Given the description of an element on the screen output the (x, y) to click on. 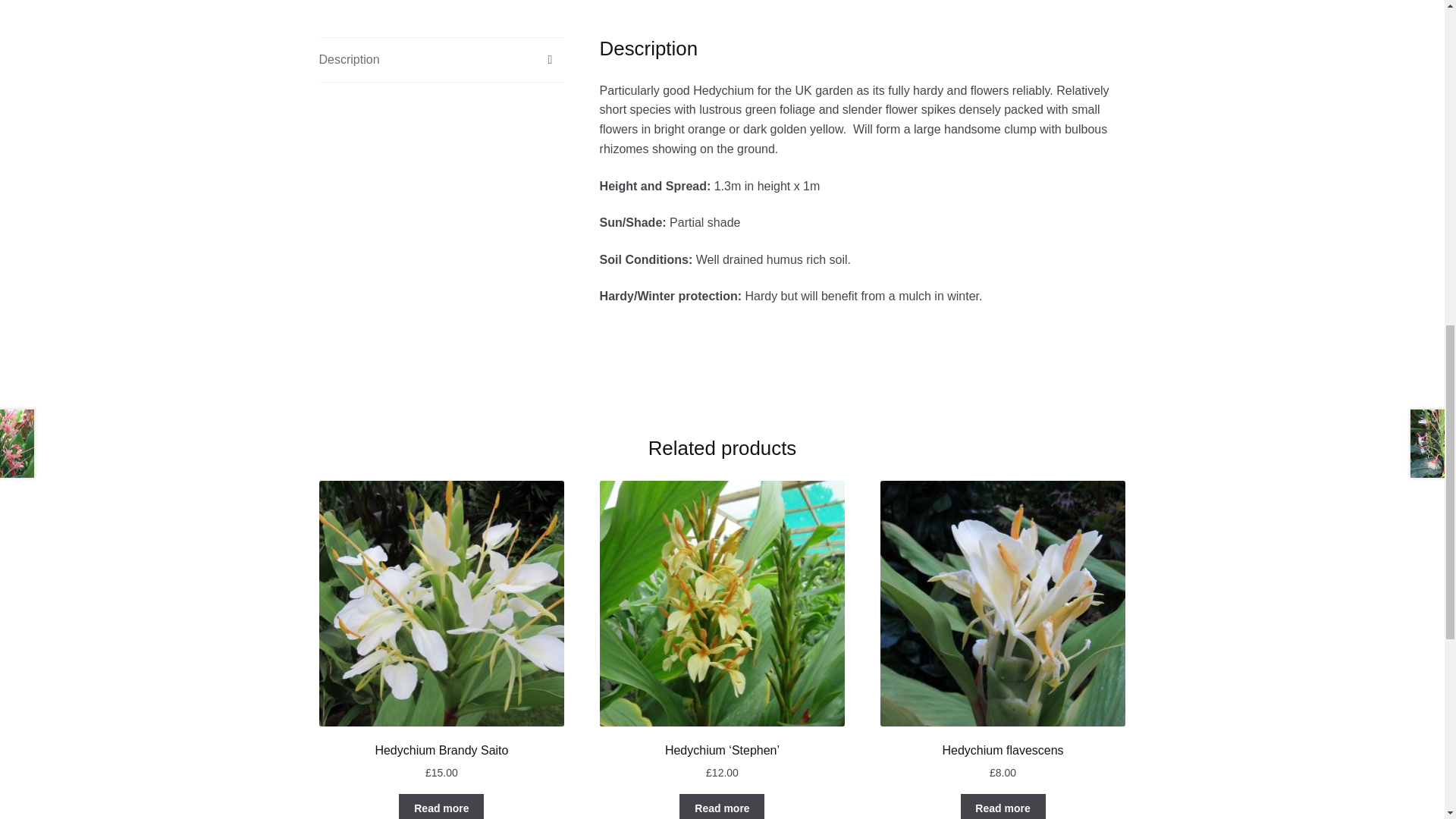
Description (441, 59)
Read more (440, 806)
Read more (1002, 806)
Read more (721, 806)
